Given the description of an element on the screen output the (x, y) to click on. 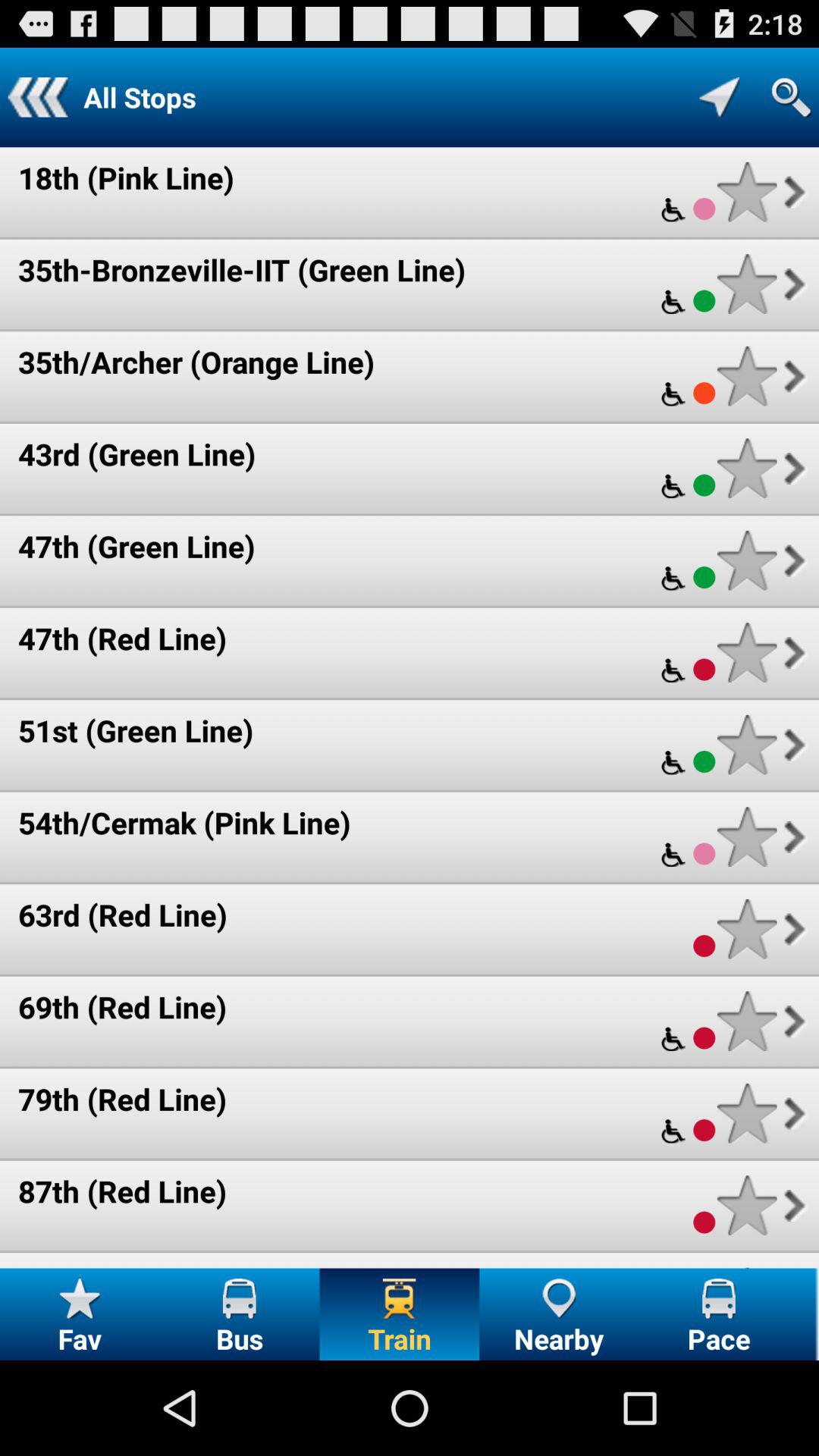
toggle favorite (746, 376)
